Given the description of an element on the screen output the (x, y) to click on. 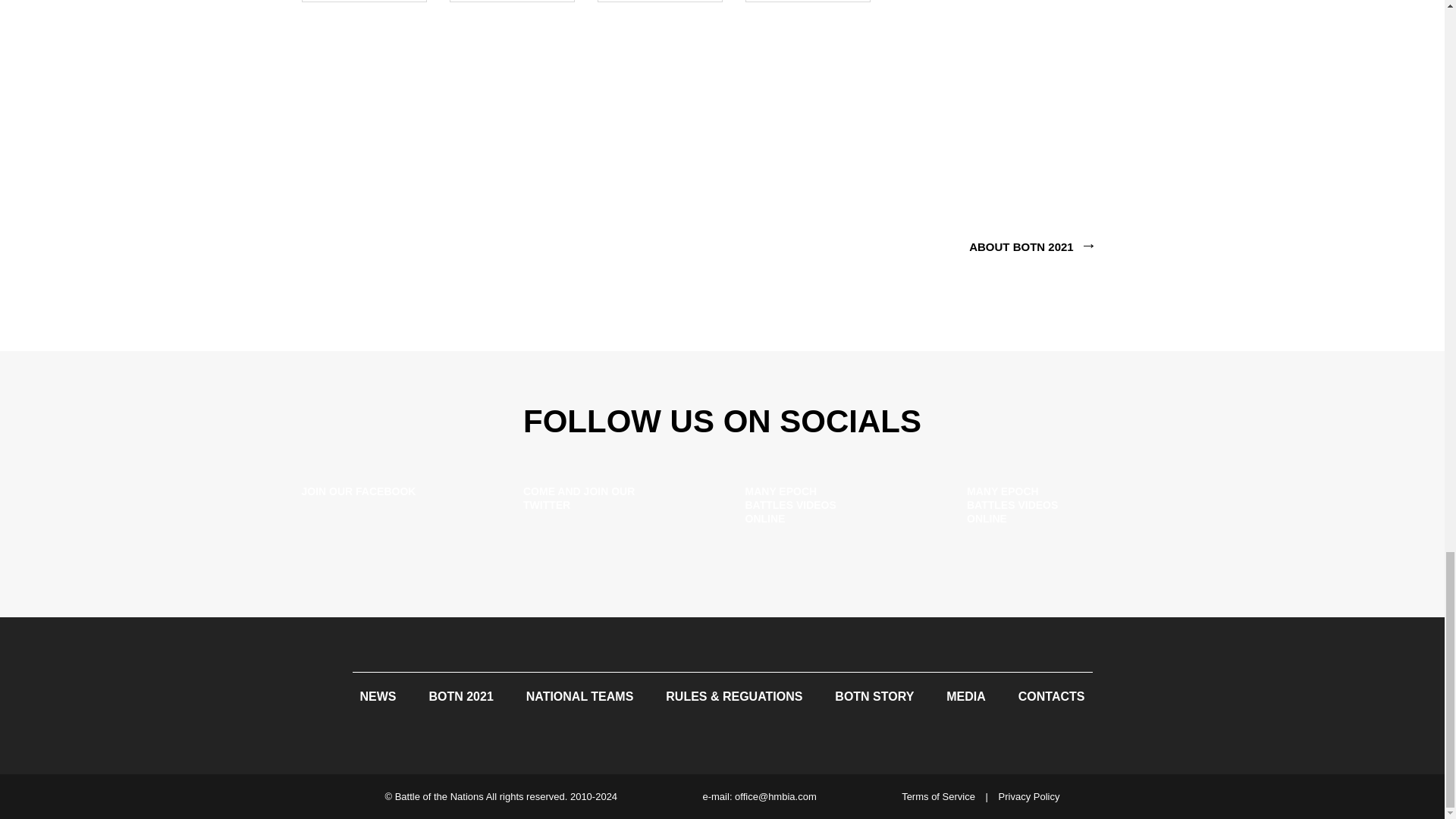
MANY EPOCH BATTLES VIDEOS ONLINE (1054, 508)
JOIN OUR FACEBOOK (389, 508)
COPY (806, 1)
MANY EPOCH BATTLES VIDEOS ONLINE (833, 508)
TWEET (510, 1)
COME AND JOIN OUR TWITTER (611, 508)
SHARE (363, 1)
EMAIL (659, 1)
